Given the description of an element on the screen output the (x, y) to click on. 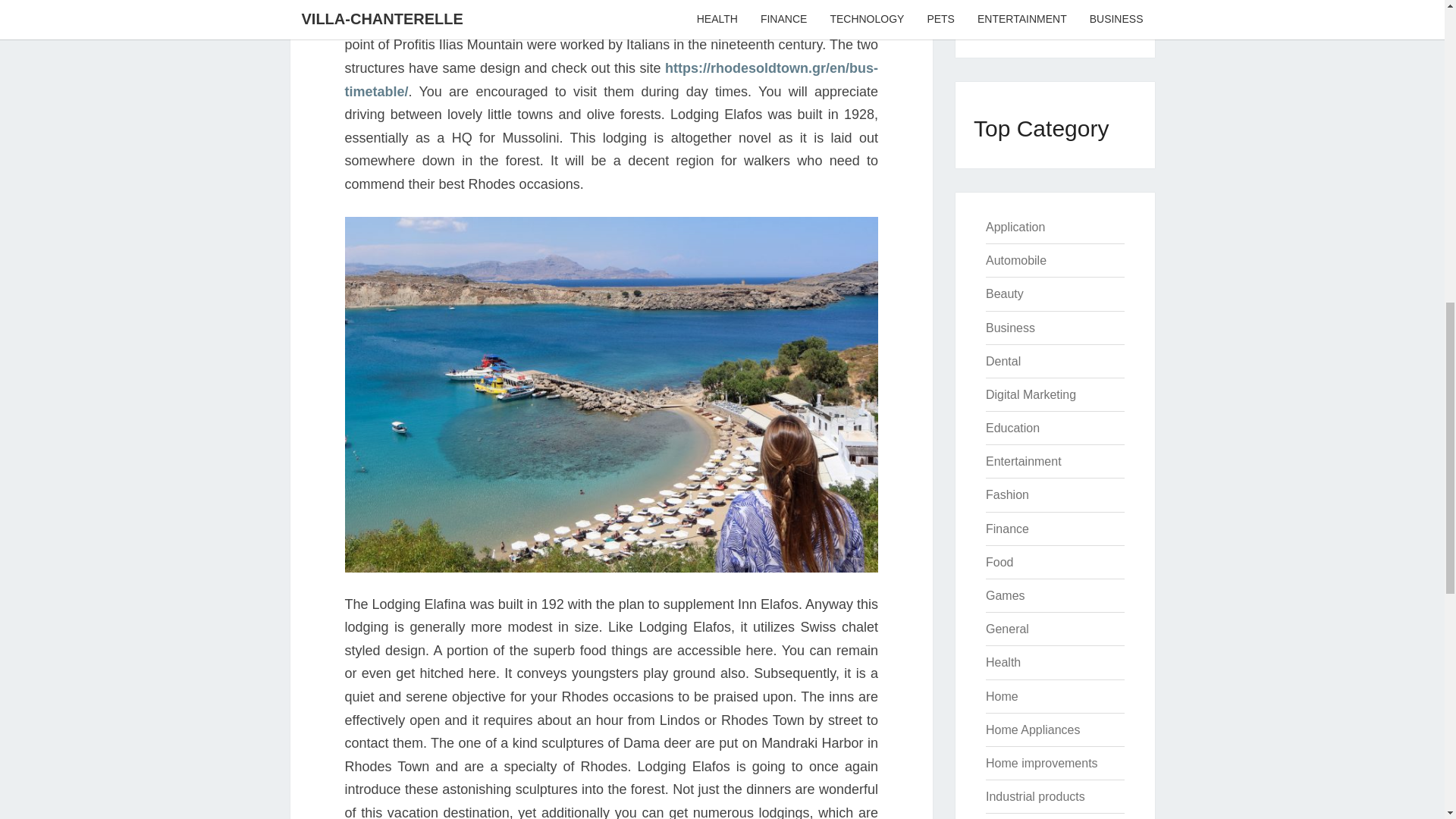
General (1007, 628)
Application (1015, 226)
Fashion (1007, 494)
Dental (1002, 360)
Home (1001, 696)
Business (1010, 327)
Finance (1007, 528)
Digital Marketing (1030, 394)
Home improvements (1041, 762)
Beauty (1004, 293)
Games (1005, 594)
Industrial products (1034, 796)
Entertainment (1023, 461)
Health (1002, 662)
Home Appliances (1032, 729)
